Given the description of an element on the screen output the (x, y) to click on. 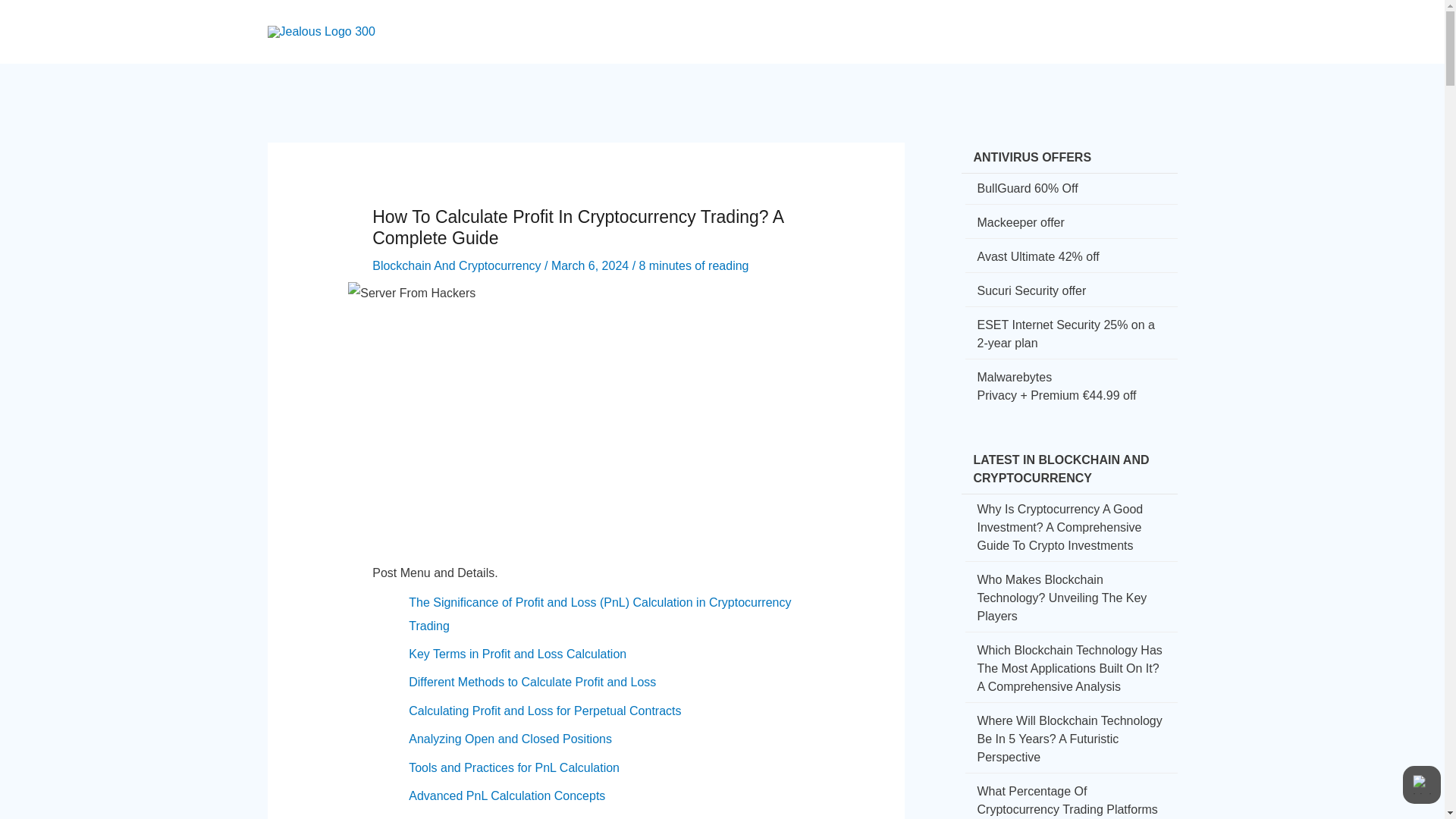
Gaming (999, 18)
Tools and Practices for PnL Calculation (514, 767)
Blockchain And Cryptocurrency (456, 265)
Different Methods to Calculate Profit and Loss (532, 681)
Finances (929, 18)
Misc (1122, 18)
10 Best (1064, 18)
Calculating Profit and Loss for Perpetual Contracts (545, 710)
Key Terms in Profit and Loss Calculation (517, 653)
Analyzing Open and Closed Positions (510, 738)
